Given the description of an element on the screen output the (x, y) to click on. 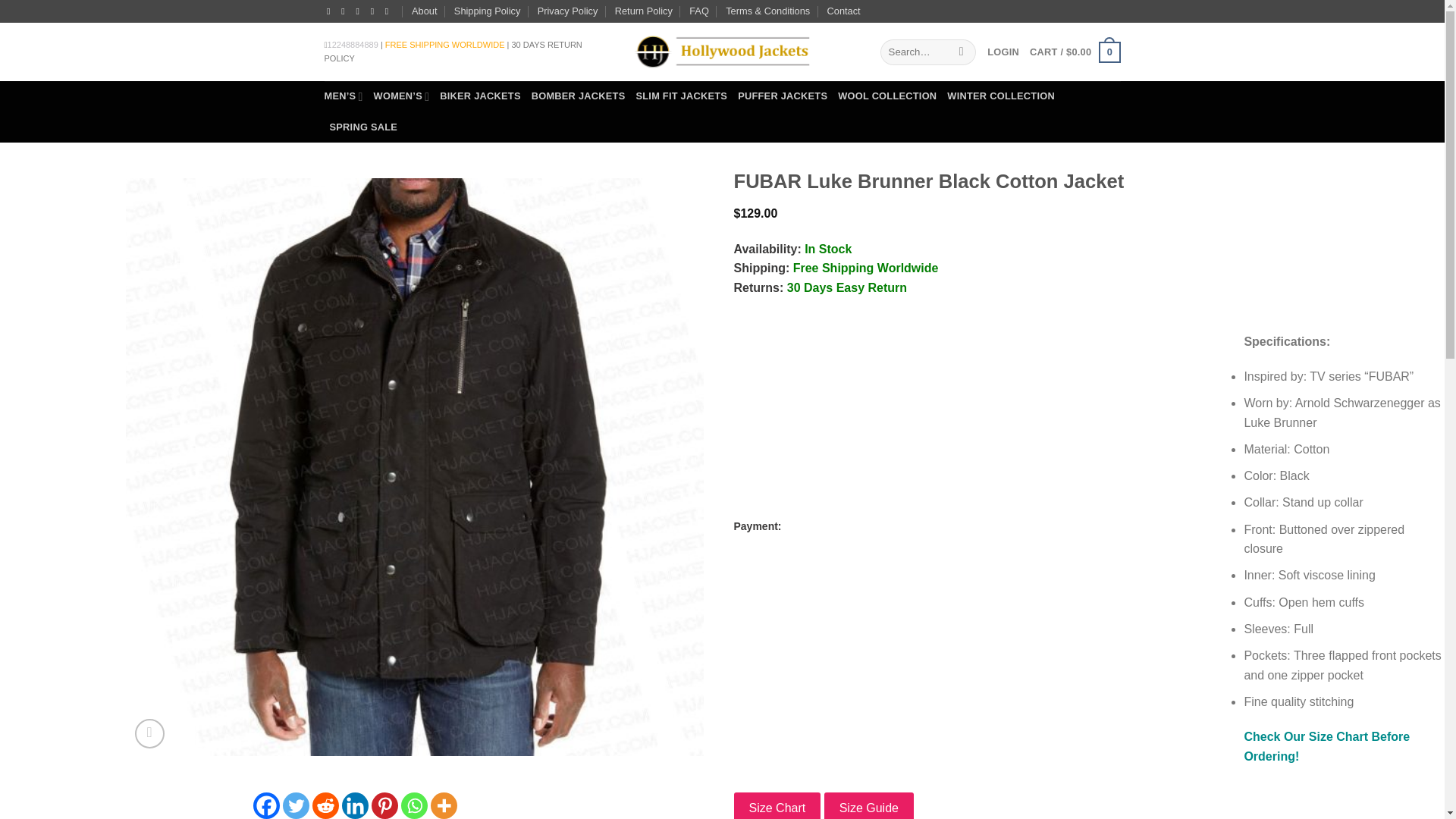
Shipping Policy (487, 11)
About (424, 11)
Contact (843, 11)
Cart (1074, 52)
Privacy Policy (567, 11)
Return Policy (643, 11)
Hollywood Jackets - Hollywood Jackets (721, 52)
LOGIN (1003, 51)
